Given the description of an element on the screen output the (x, y) to click on. 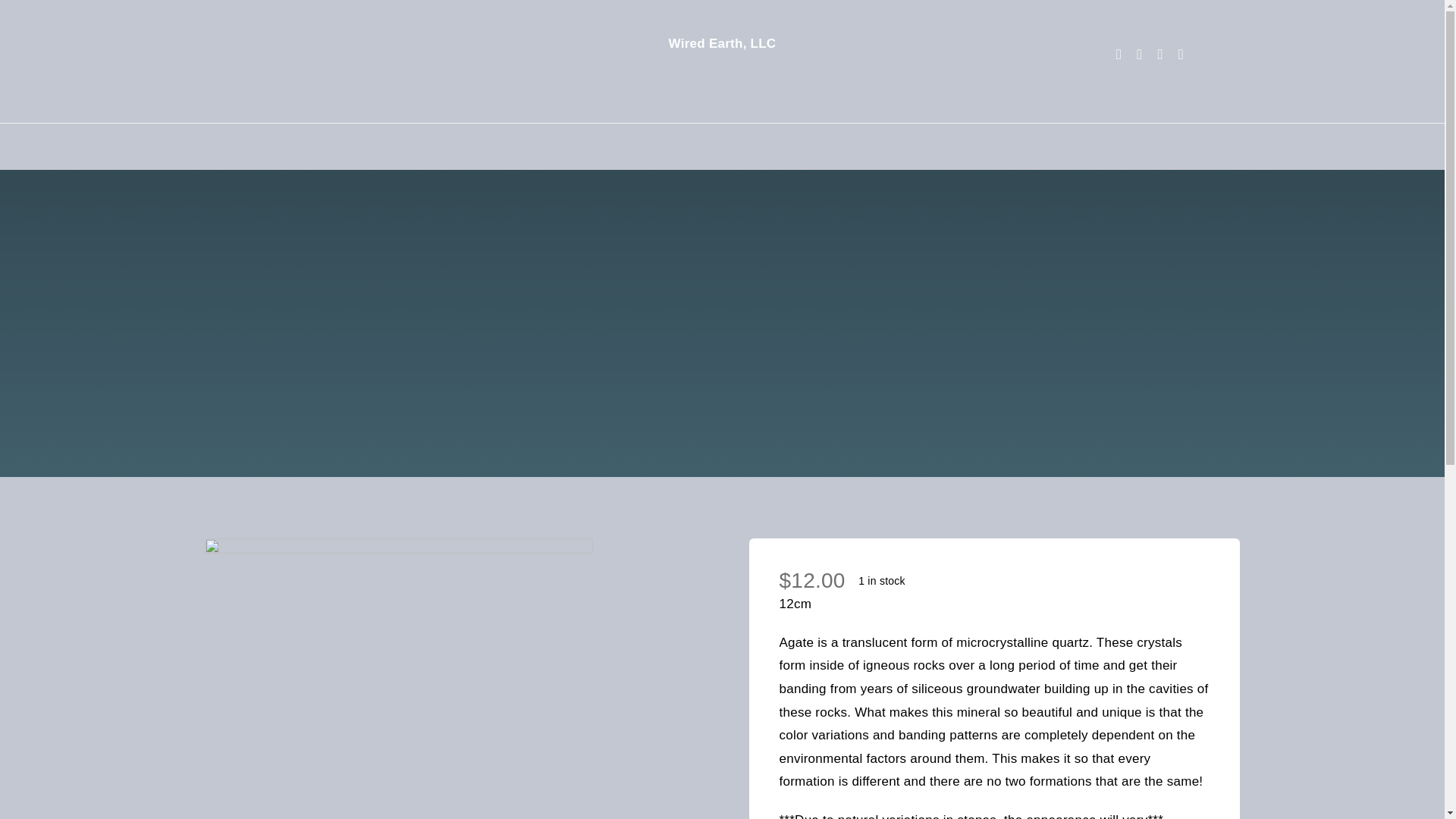
Log In (817, 314)
Natural Agate Slice Medium (398, 678)
